Given the description of an element on the screen output the (x, y) to click on. 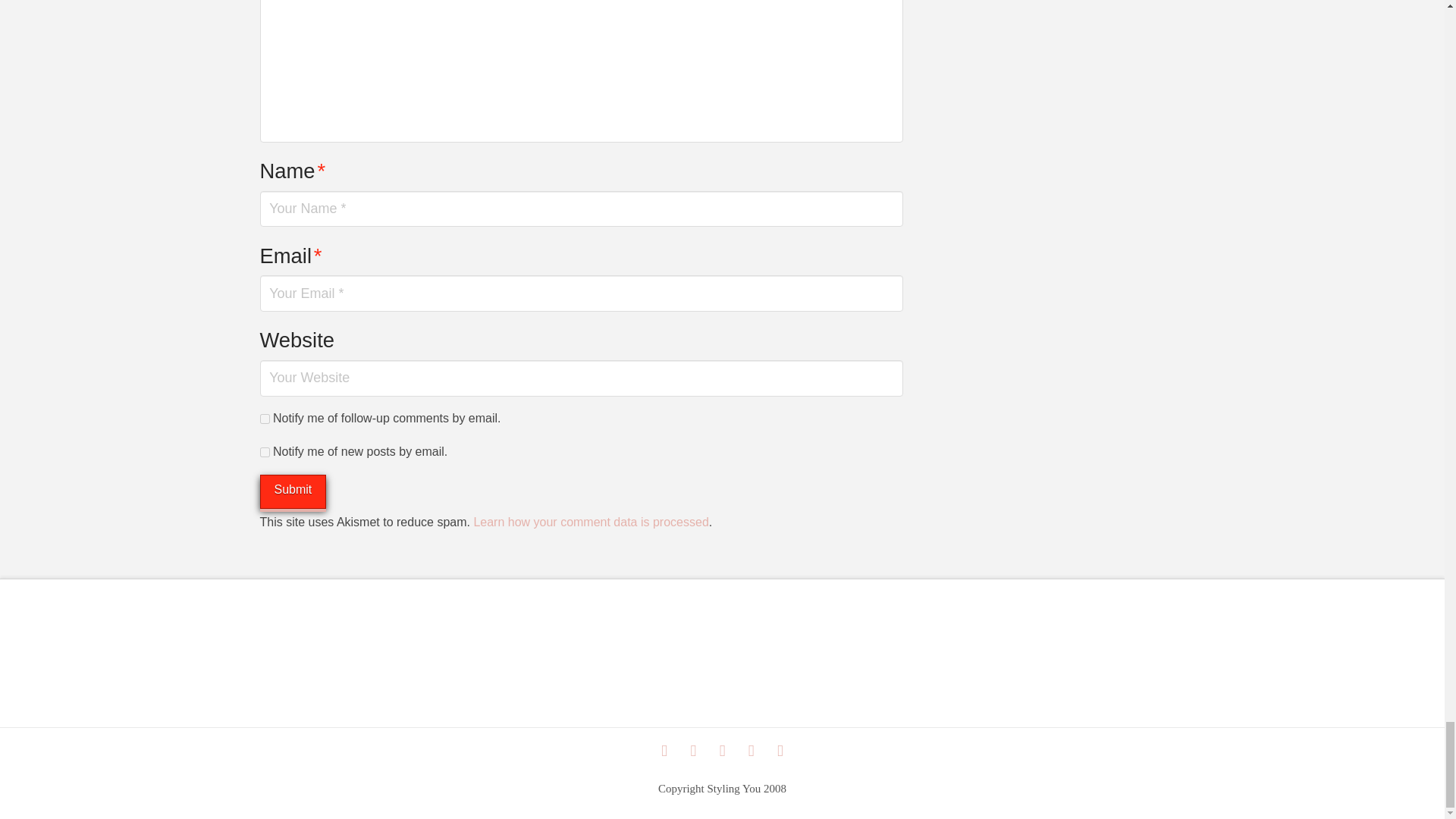
subscribe (264, 452)
Submit (292, 491)
subscribe (264, 419)
